Given the description of an element on the screen output the (x, y) to click on. 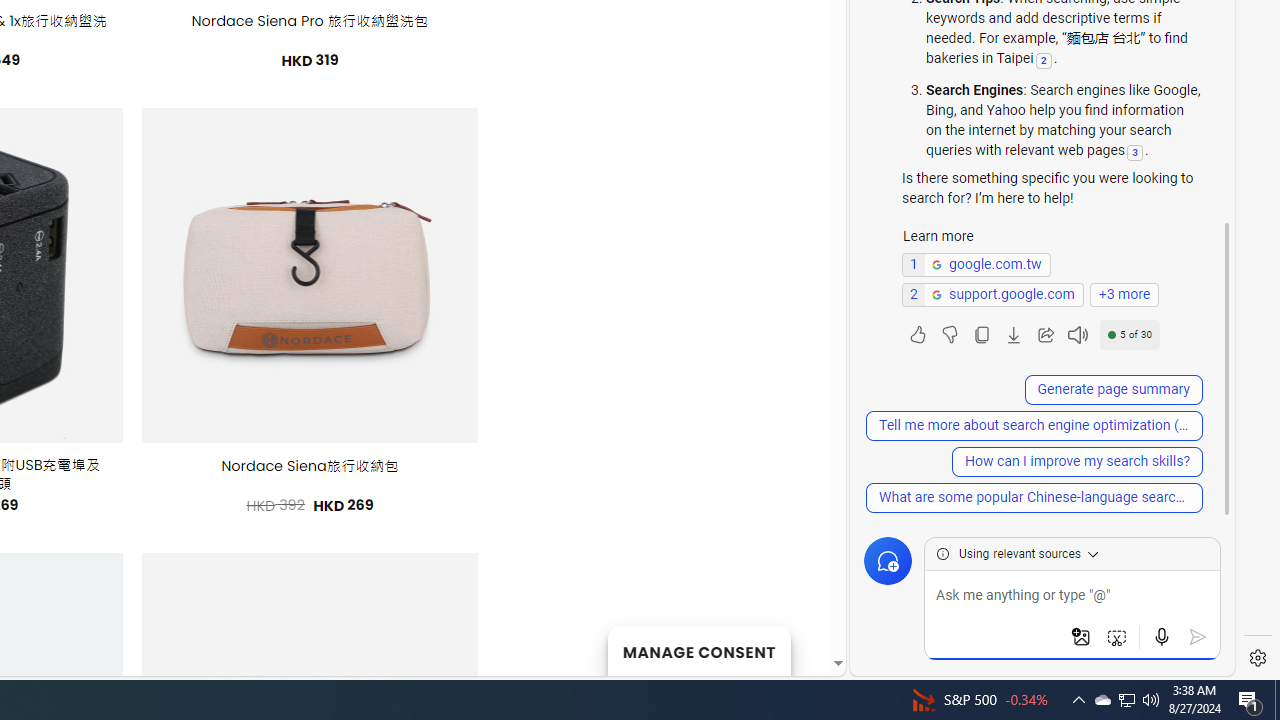
MANAGE CONSENT (698, 650)
